Given the description of an element on the screen output the (x, y) to click on. 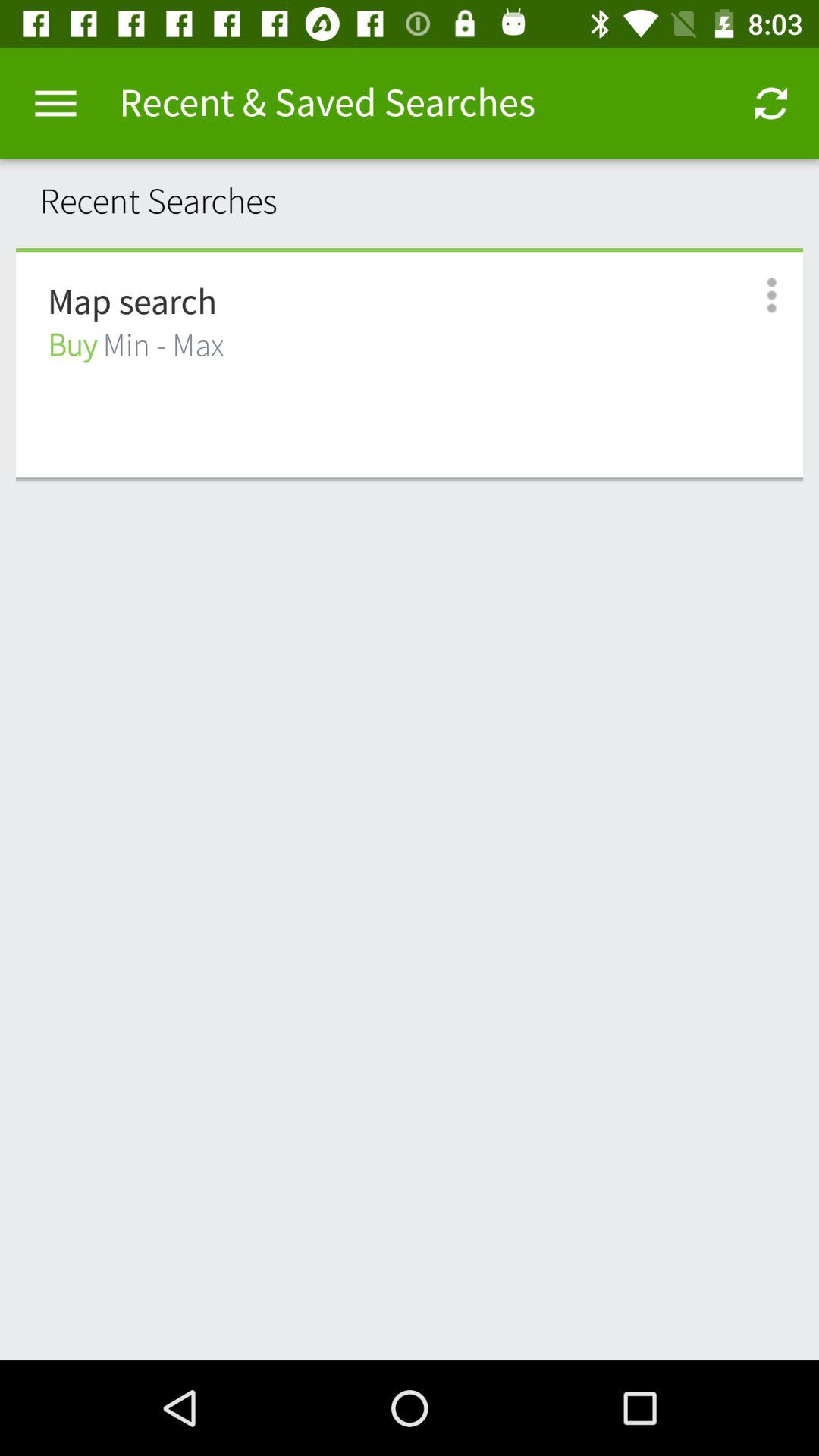
press icon below map search item (135, 345)
